Given the description of an element on the screen output the (x, y) to click on. 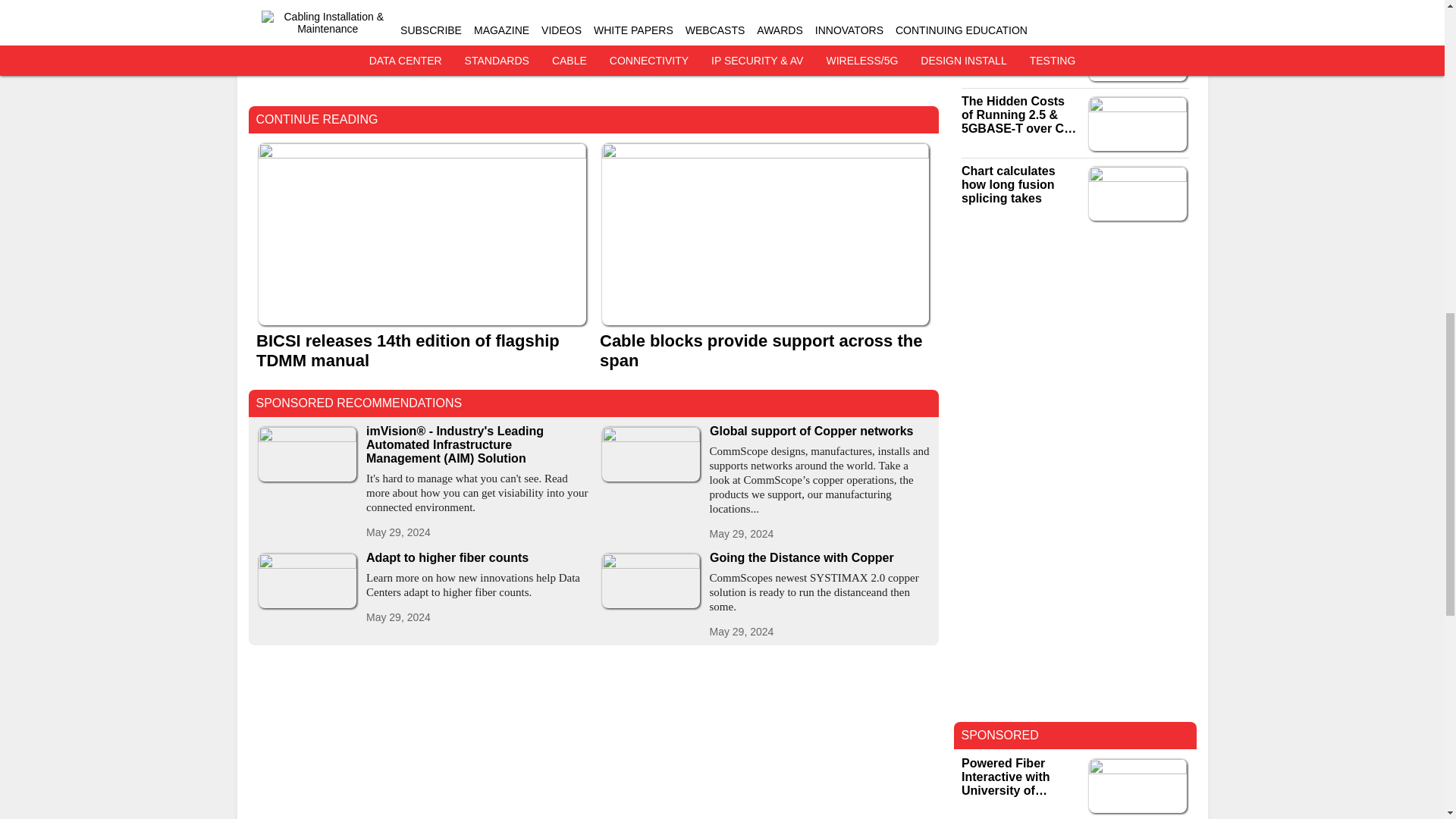
BICSI releases 14th edition of flagship TDMM manual (422, 351)
www.solarflare.com (310, 48)
Global support of Copper networks (820, 431)
www.belfuse.com (304, 23)
Cable blocks provide support across the span (764, 351)
